Given the description of an element on the screen output the (x, y) to click on. 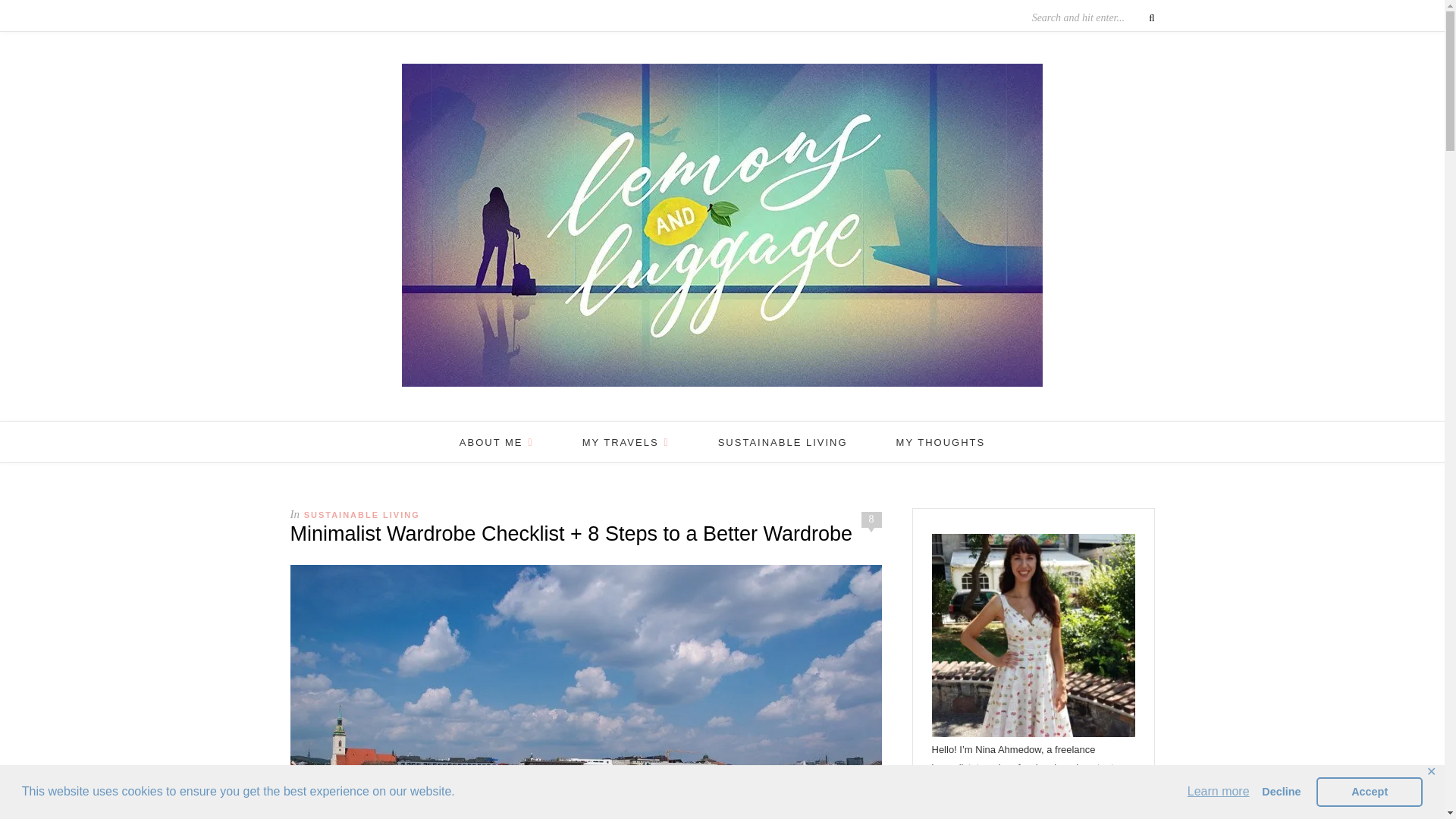
Accept (1369, 791)
Learn more (1218, 791)
MY THOUGHTS (940, 442)
SUSTAINABLE LIVING (782, 442)
MY TRAVELS (625, 442)
SUSTAINABLE LIVING (362, 514)
Decline (1281, 791)
ABOUT ME (497, 442)
